Given the description of an element on the screen output the (x, y) to click on. 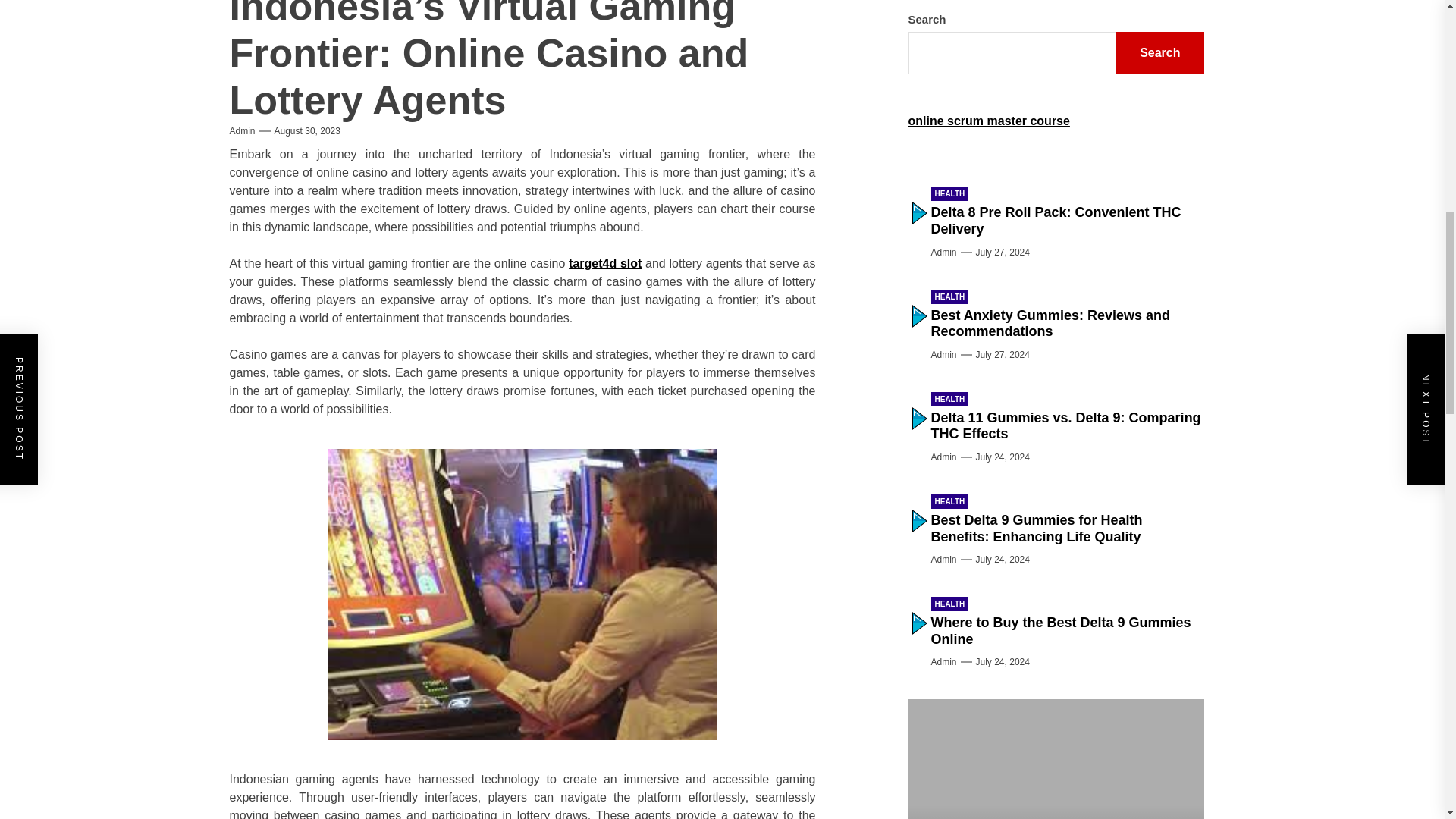
Admin (241, 131)
August 30, 2023 (307, 131)
target4d slot (605, 263)
